Given the description of an element on the screen output the (x, y) to click on. 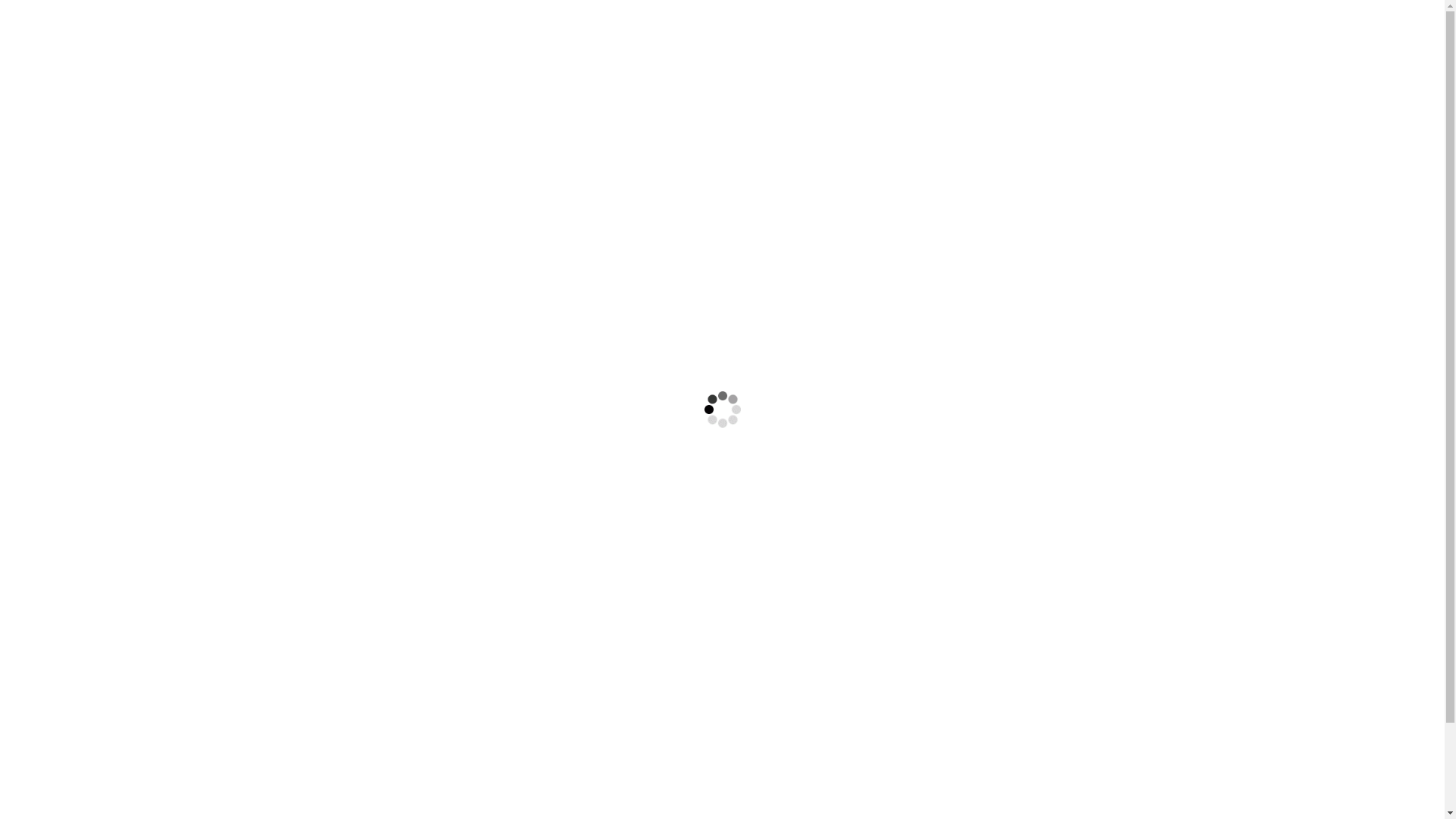
Kontakt Element type: text (1126, 44)
Startseite Element type: text (598, 44)
Unsere Arbeiten Element type: text (845, 44)
Aktuelles Element type: text (955, 44)
Dienstleistungen Element type: text (711, 44)
